Given the description of an element on the screen output the (x, y) to click on. 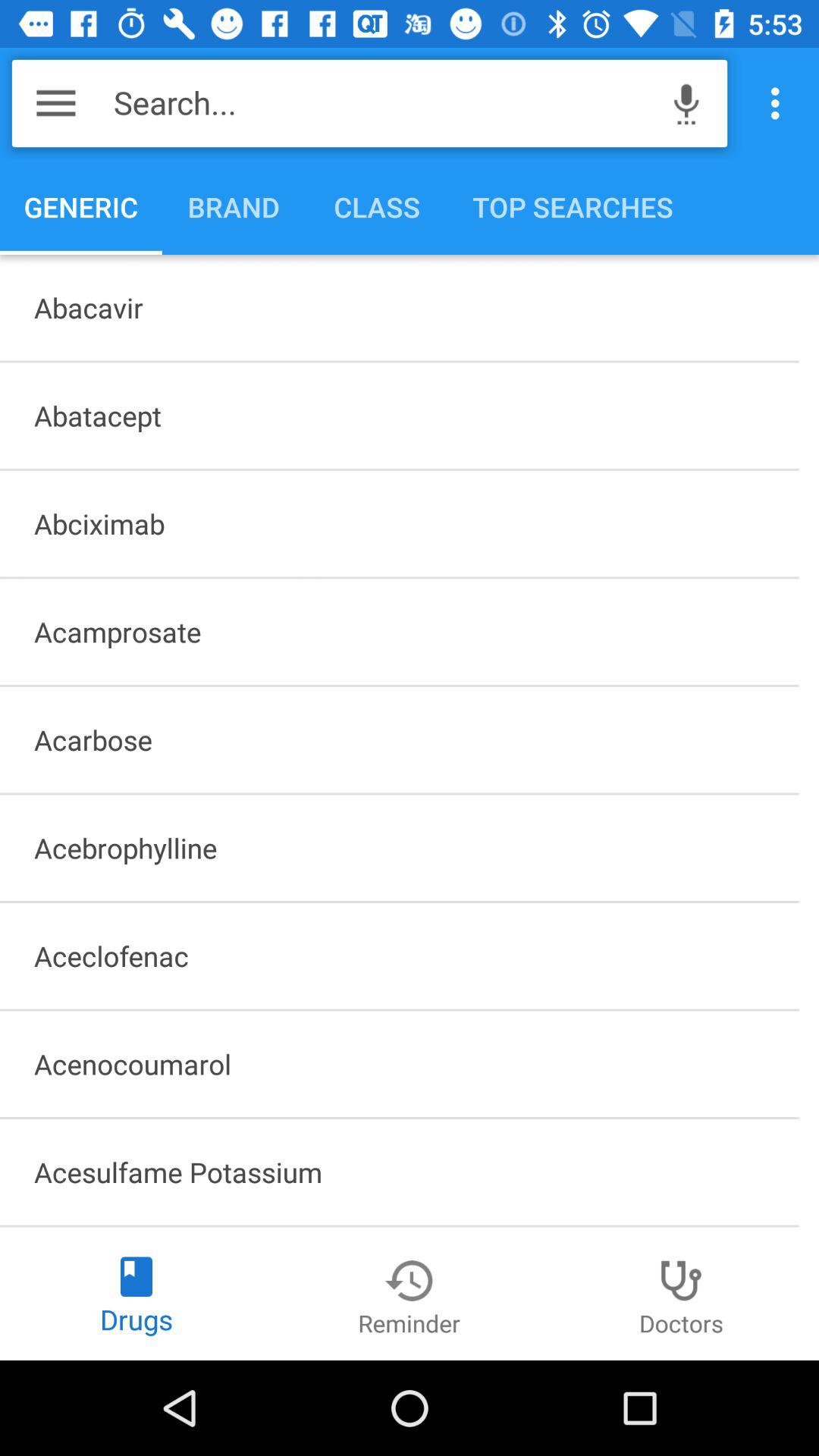
launch item below acenocoumarol icon (399, 1171)
